Given the description of an element on the screen output the (x, y) to click on. 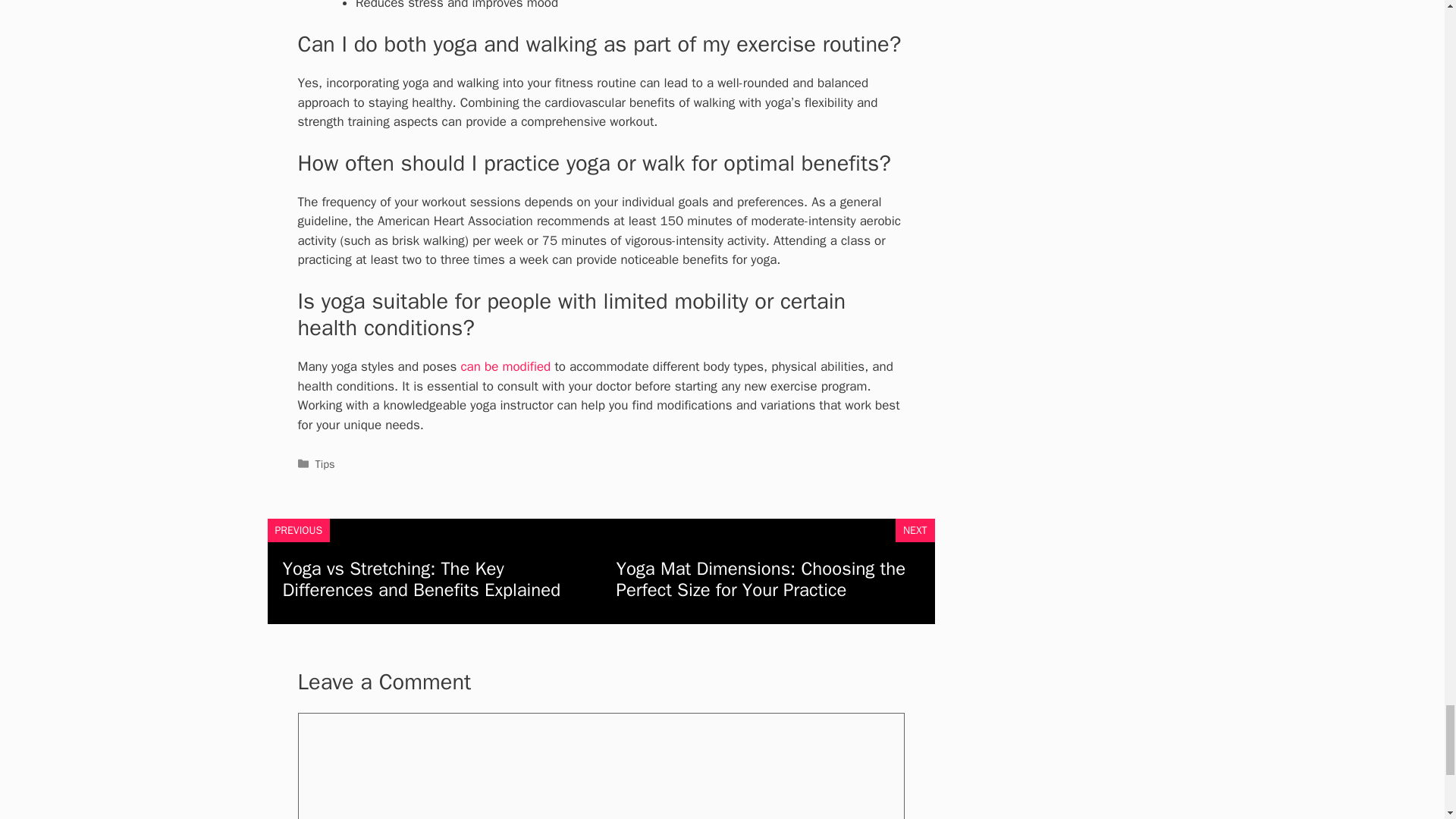
Tips (324, 463)
can be modified (507, 366)
